Given the description of an element on the screen output the (x, y) to click on. 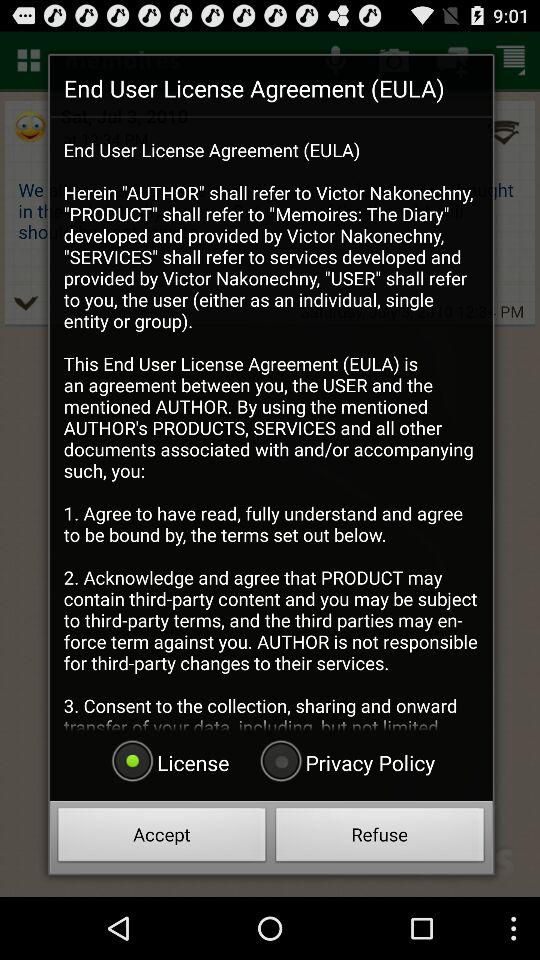
tap icon at the bottom (345, 762)
